Given the description of an element on the screen output the (x, y) to click on. 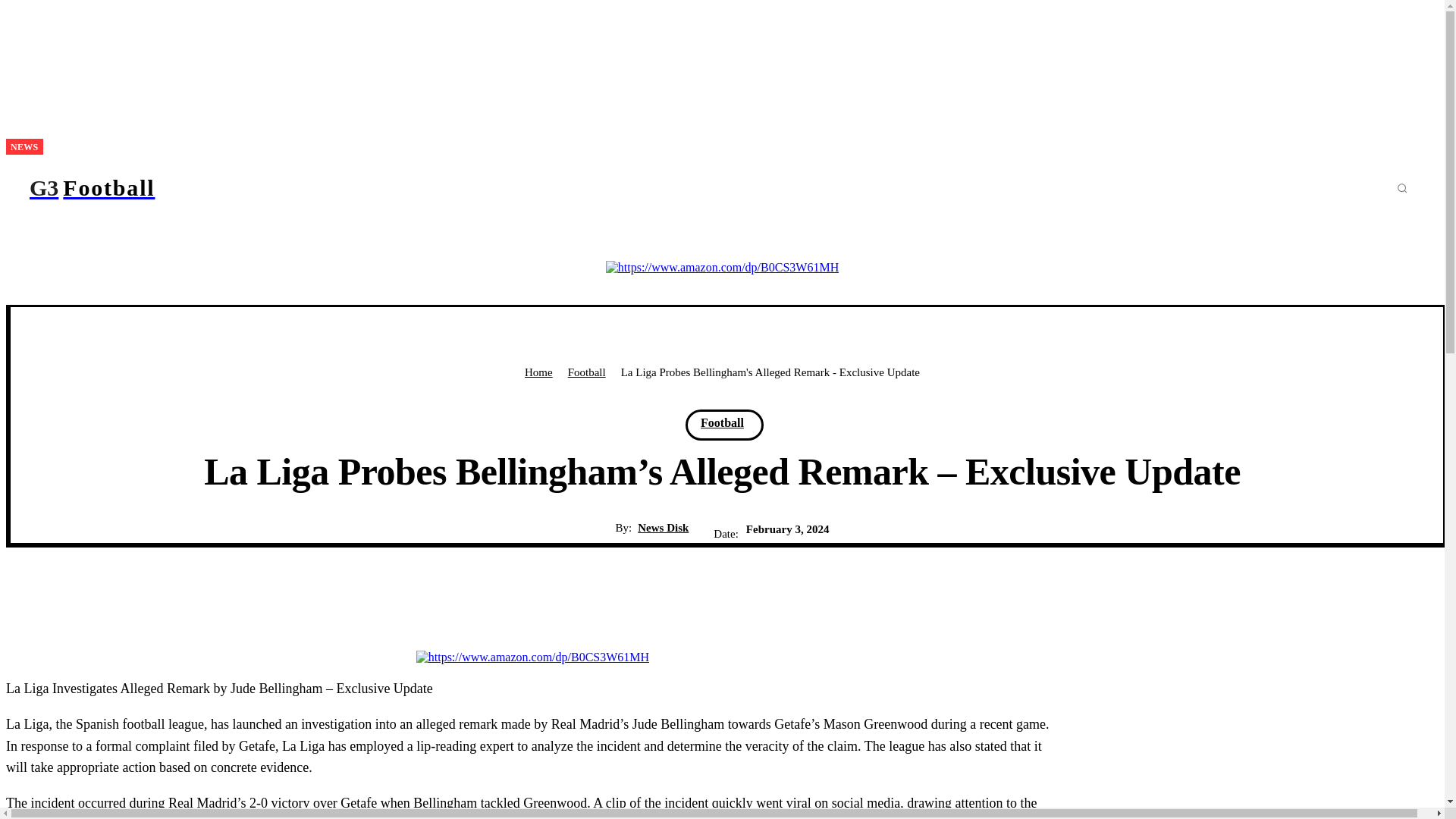
Home (538, 372)
Football (586, 372)
View all posts in Football (586, 372)
Football (721, 422)
News Disk (165, 187)
